Given the description of an element on the screen output the (x, y) to click on. 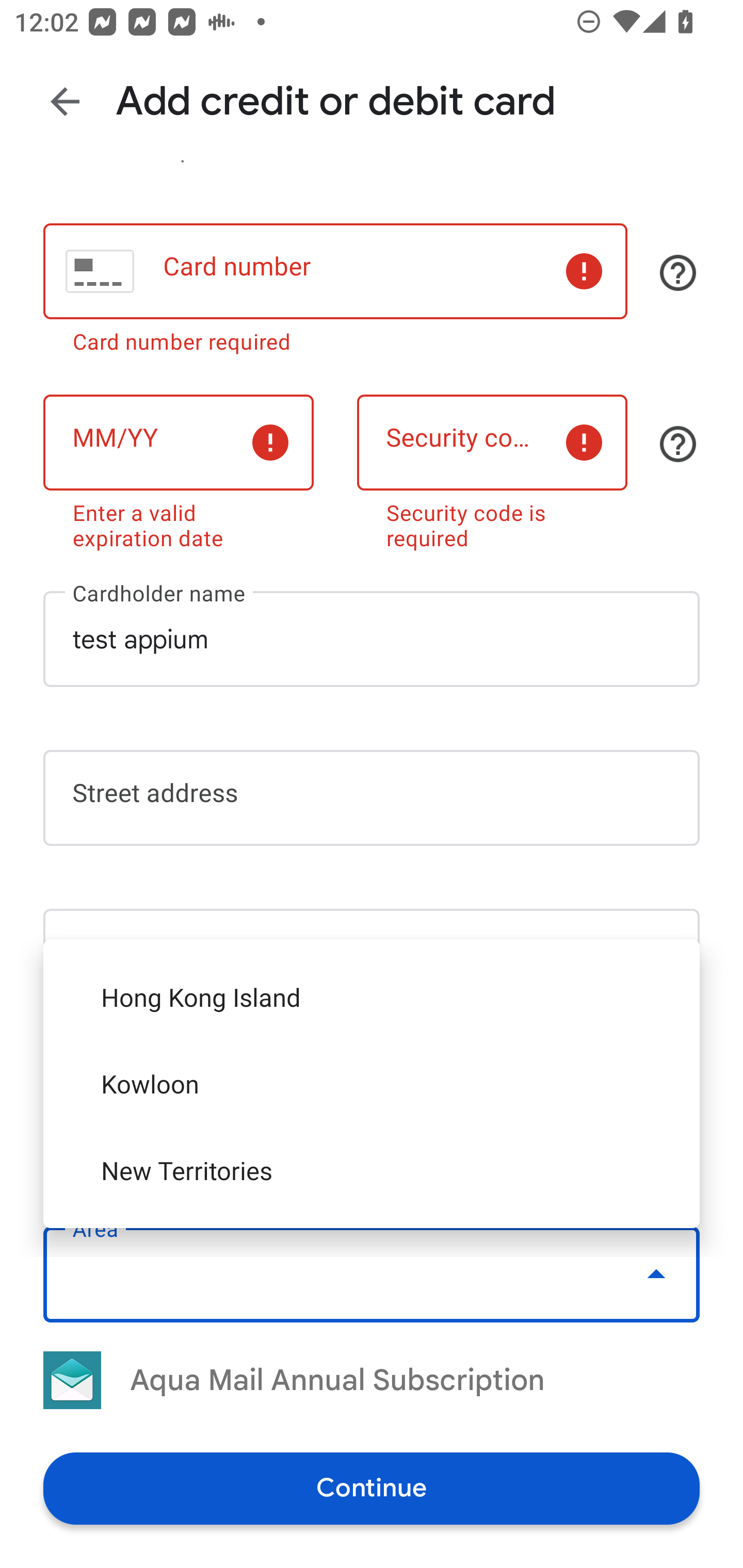
Back (64, 101)
Card number (335, 270)
Button, shows cards that are accepted for payment (677, 272)
Expiration date, 2 digit month, 2 digit year (178, 442)
Security code (492, 442)
Security code help (677, 443)
test appium (371, 638)
Street address (371, 797)
Apt, suite, etc. (optional) (371, 957)
District (371, 1115)
Area (371, 1273)
Show dropdown menu (655, 1273)
Continue (371, 1487)
